Given the description of an element on the screen output the (x, y) to click on. 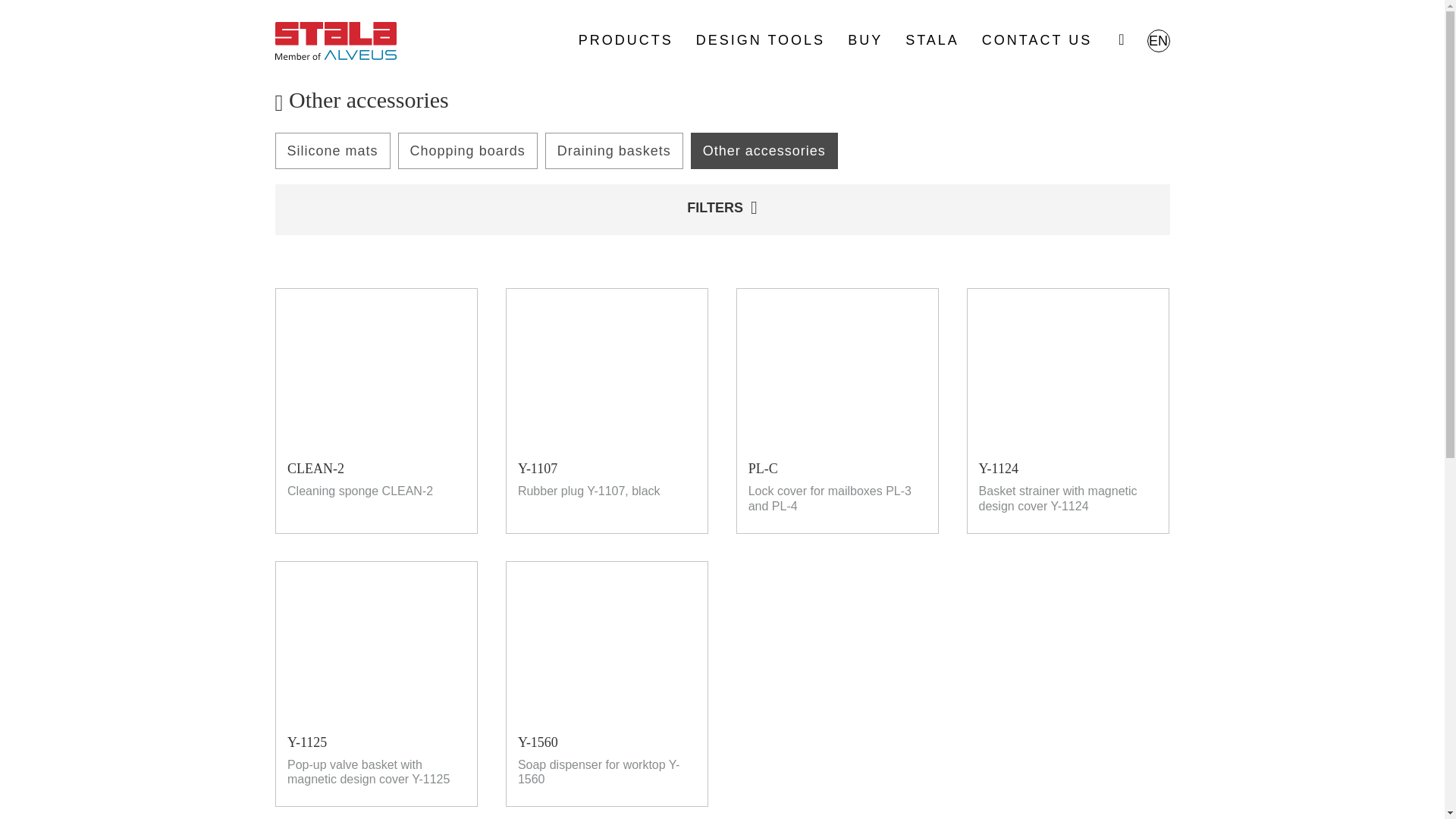
DESIGN TOOLS (760, 39)
Stala (335, 40)
PRODUCTS (625, 39)
